Given the description of an element on the screen output the (x, y) to click on. 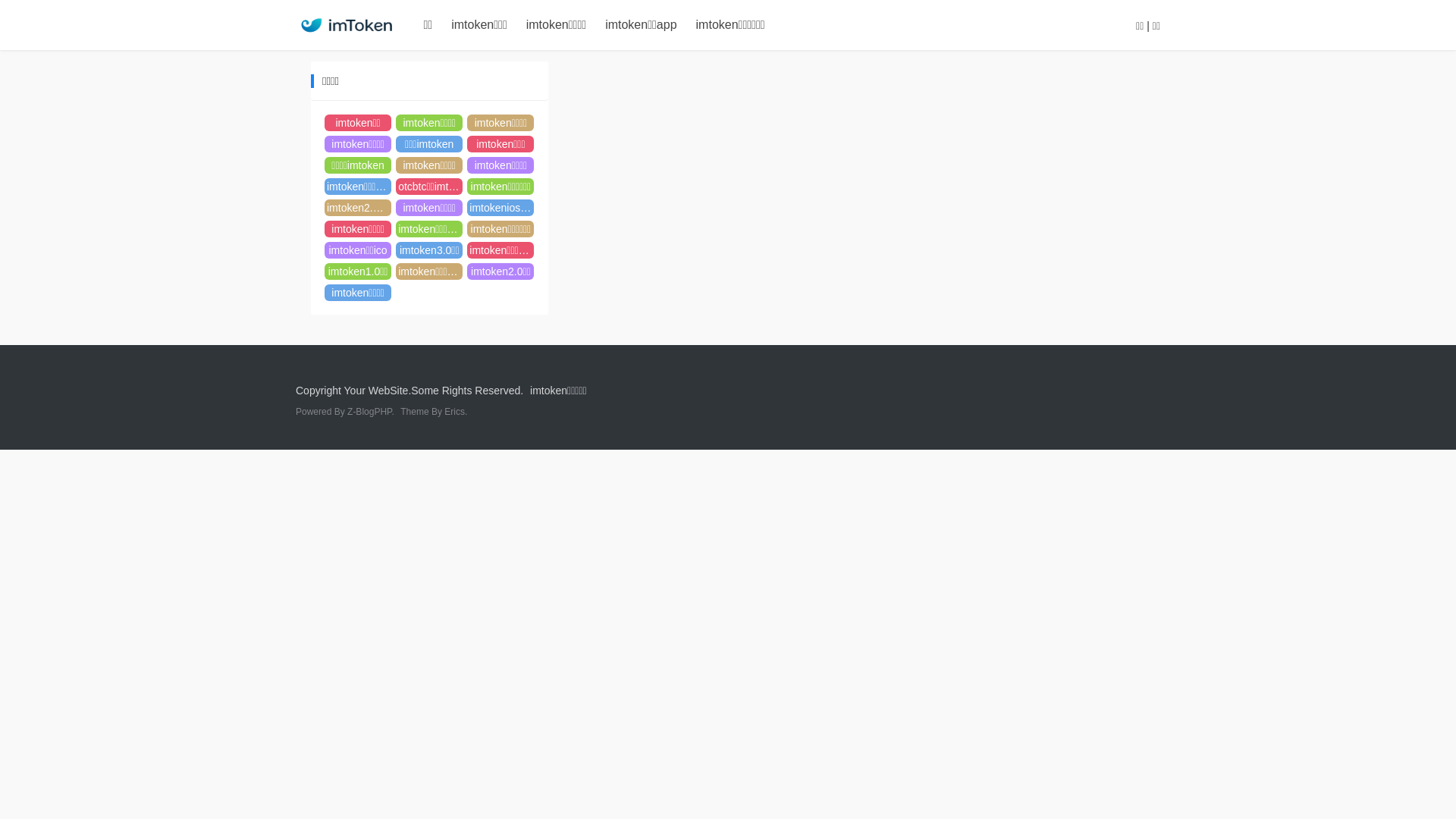
Z-BlogPHP Element type: text (369, 411)
Erics Element type: text (454, 411)
